Given the description of an element on the screen output the (x, y) to click on. 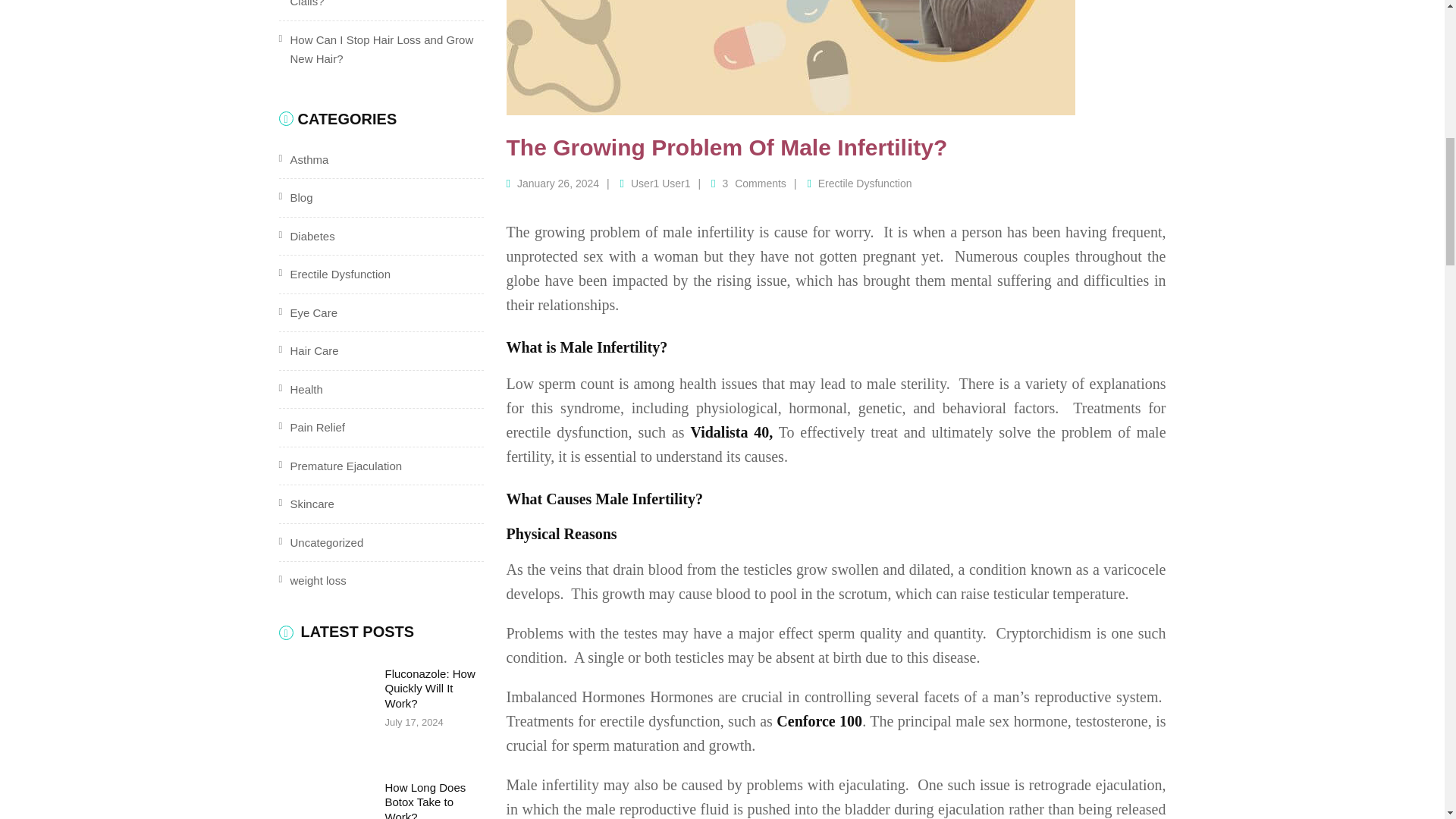
How Can I Stop Hair Loss and Grow New Hair? (381, 49)
What Occurs If A Woman Takes Cialis? (368, 4)
Posts by user1 user1 (660, 183)
Asthma (309, 159)
